Given the description of an element on the screen output the (x, y) to click on. 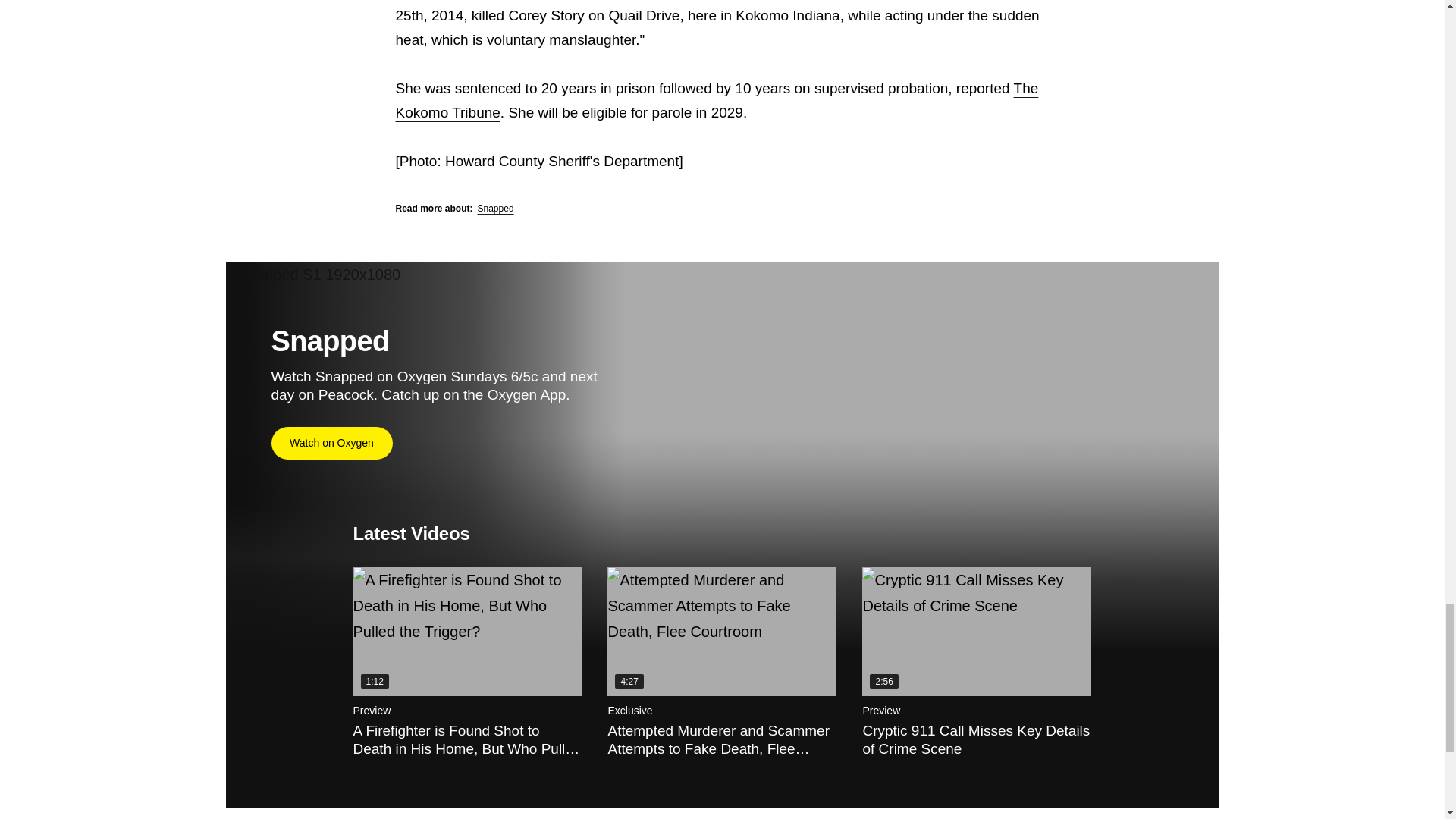
The Kokomo Tribune (717, 100)
Snapped (495, 208)
Cryptic 911 Call Misses Key Details of Crime Scene (975, 631)
Watch on Oxygen (331, 442)
